Given the description of an element on the screen output the (x, y) to click on. 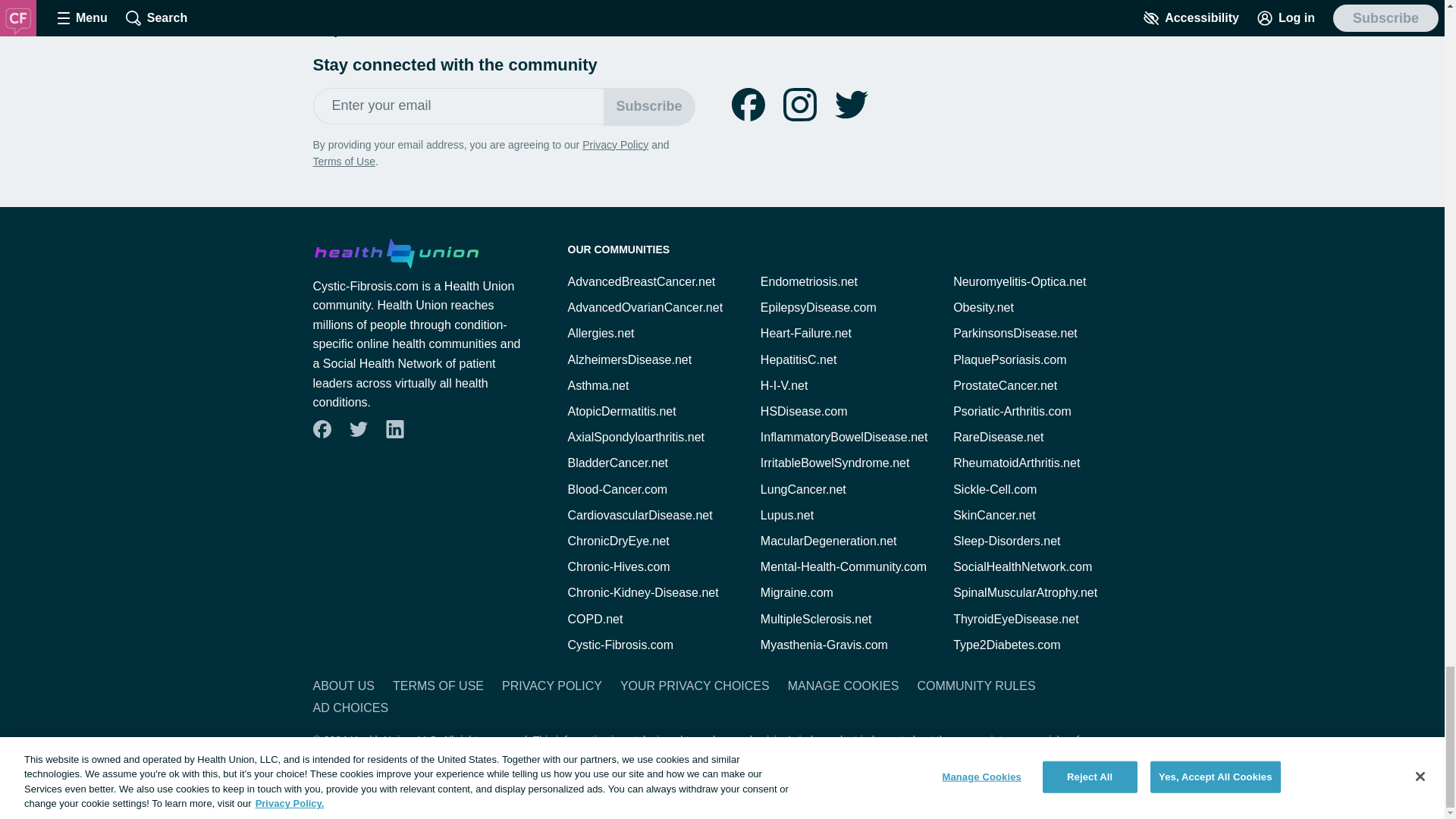
Follow us on facebook (747, 104)
